Given the description of an element on the screen output the (x, y) to click on. 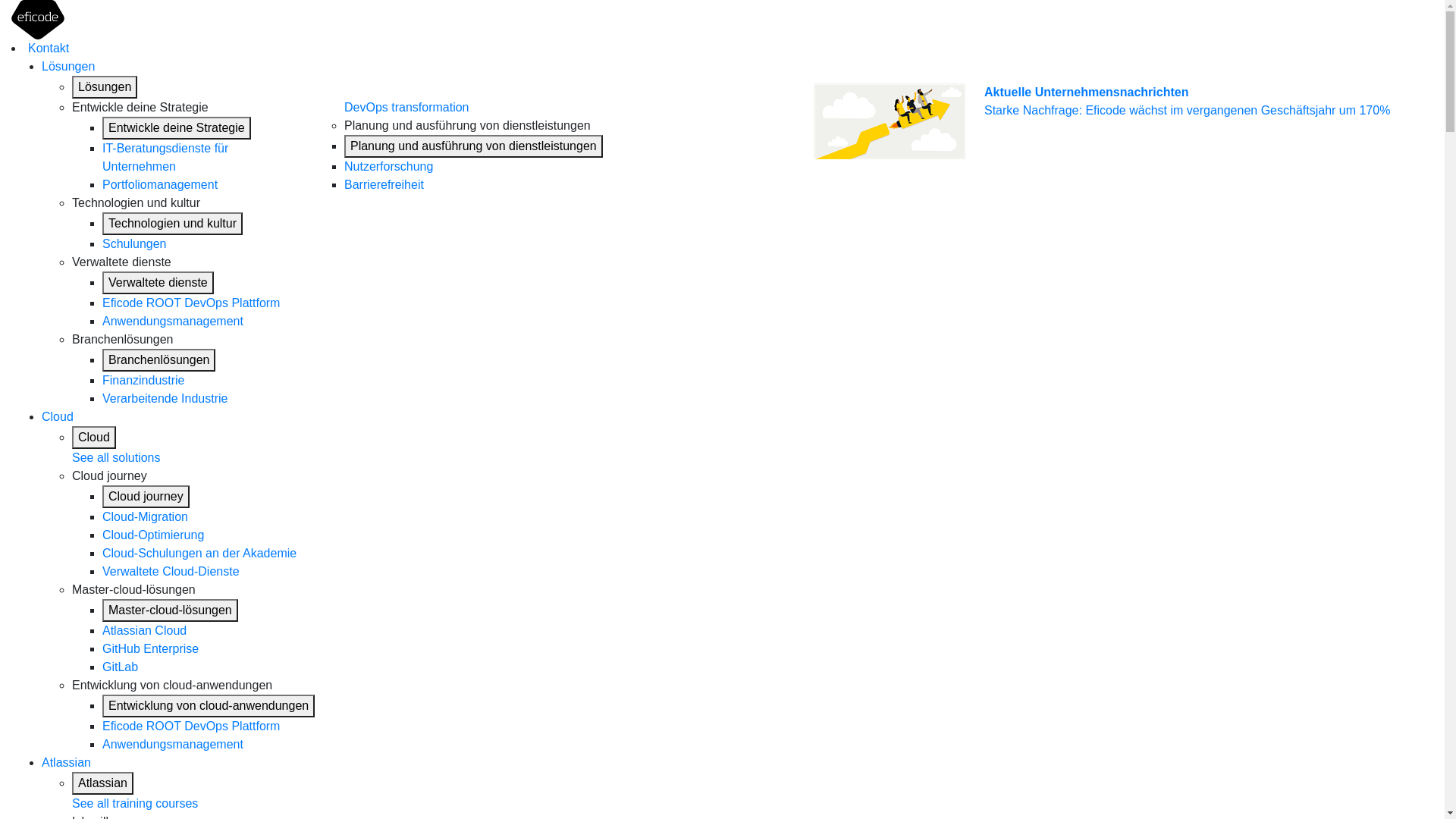
GitHub Enterprise Element type: text (150, 648)
Verarbeitende Industrie Element type: text (164, 398)
Nutzerforschung Element type: text (388, 166)
DevOps transformation Element type: text (406, 106)
Anwendungsmanagement Element type: text (172, 320)
Atlassian Cloud Element type: text (144, 630)
Entwickle deine Strategie Element type: text (176, 127)
See all solutions Element type: text (116, 457)
Cloud-Optimierung Element type: text (152, 534)
Anwendungsmanagement Element type: text (172, 743)
Atlassian Element type: text (66, 762)
Technologien und kultur Element type: text (172, 223)
Verwaltete Cloud-Dienste Element type: text (170, 570)
Entwicklung von cloud-anwendungen Element type: text (208, 705)
Cloud journey Element type: text (145, 496)
Verwaltete dienste Element type: text (157, 282)
Barrierefreiheit Element type: text (383, 184)
Cloud-Migration Element type: text (145, 516)
See all training courses Element type: text (134, 803)
Schulungen Element type: text (134, 243)
Eficode ROOT DevOps Plattform Element type: text (190, 302)
Kontakt Element type: text (48, 47)
Cloud-Schulungen an der Akademie Element type: text (199, 552)
Portfoliomanagement Element type: text (169, 184)
Cloud Element type: text (57, 416)
GitLab Element type: text (120, 666)
Eficode ROOT DevOps Plattform Element type: text (190, 725)
Atlassian Element type: text (102, 782)
Cloud Element type: text (94, 437)
Finanzindustrie Element type: text (143, 379)
